Given the description of an element on the screen output the (x, y) to click on. 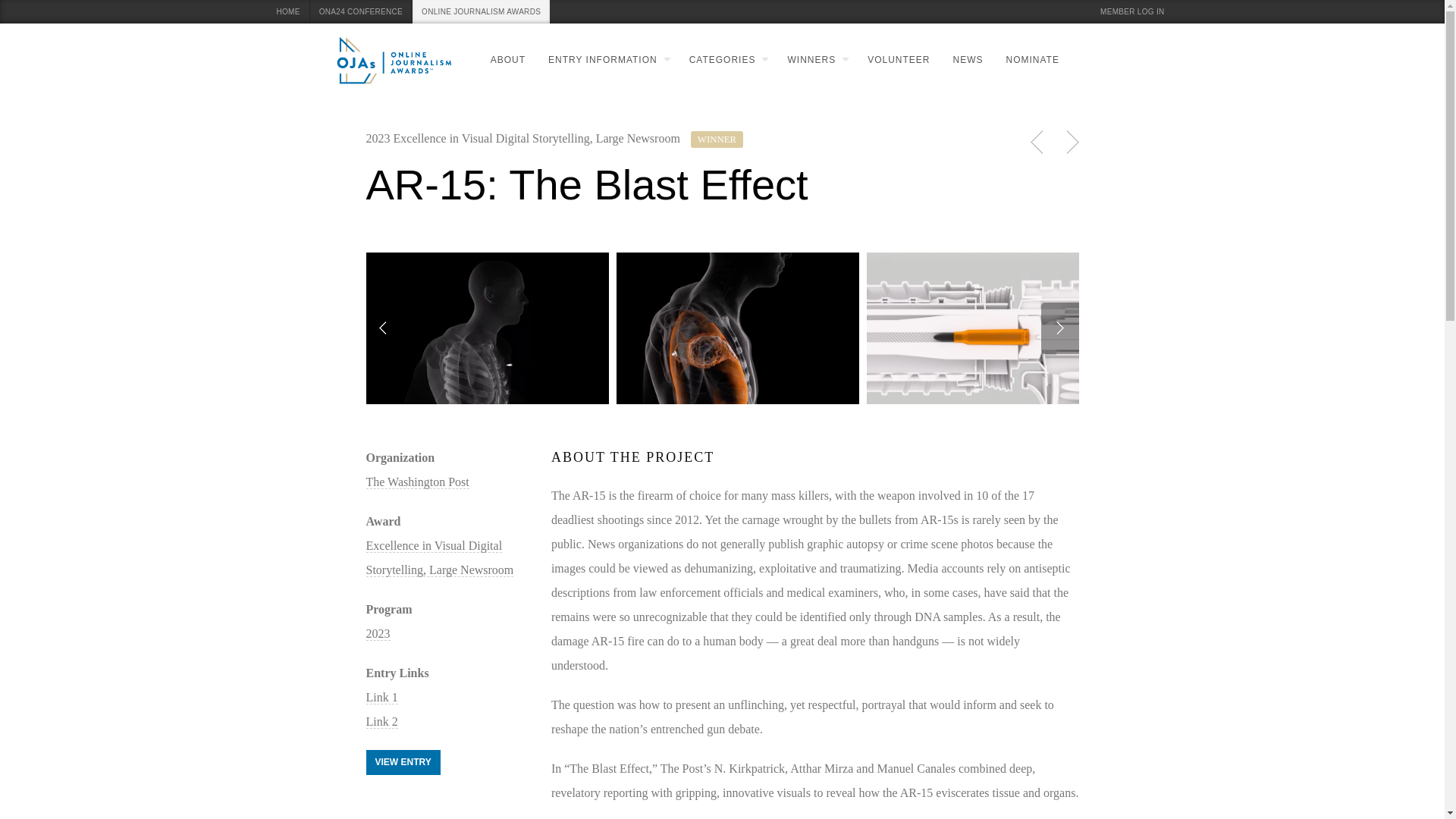
HOME (287, 11)
ABOUT (502, 60)
NEWS (963, 60)
AR-15: The Blast Effect (486, 328)
ENTRY INFORMATION (601, 60)
ONLINE JOURNALISM AWARDS (481, 11)
AR-15: The Blast Effect (987, 328)
VOLUNTEER (893, 60)
ONA24 CONFERENCE (361, 11)
CATEGORIES (721, 60)
WINNERS (810, 60)
NOMINATE (1026, 60)
MEMBER LOG IN (1133, 11)
AR-15: The Blast Effect (737, 328)
